Given the description of an element on the screen output the (x, y) to click on. 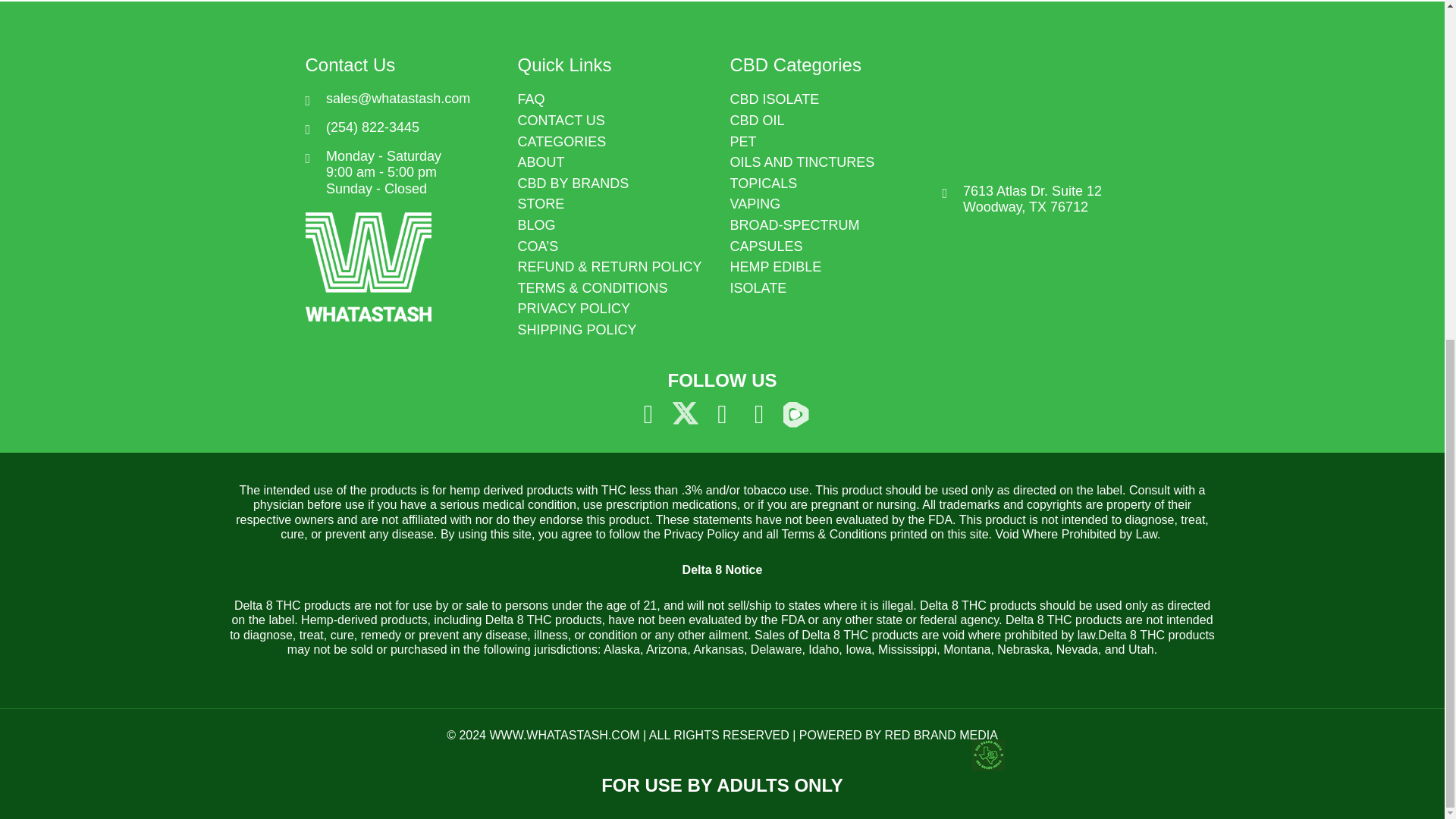
7613 Atlas Suite 12 Woodway, TX 76712 (1040, 111)
CONTACT US (615, 121)
FAQ (615, 99)
CATEGORIES (615, 142)
